Given the description of an element on the screen output the (x, y) to click on. 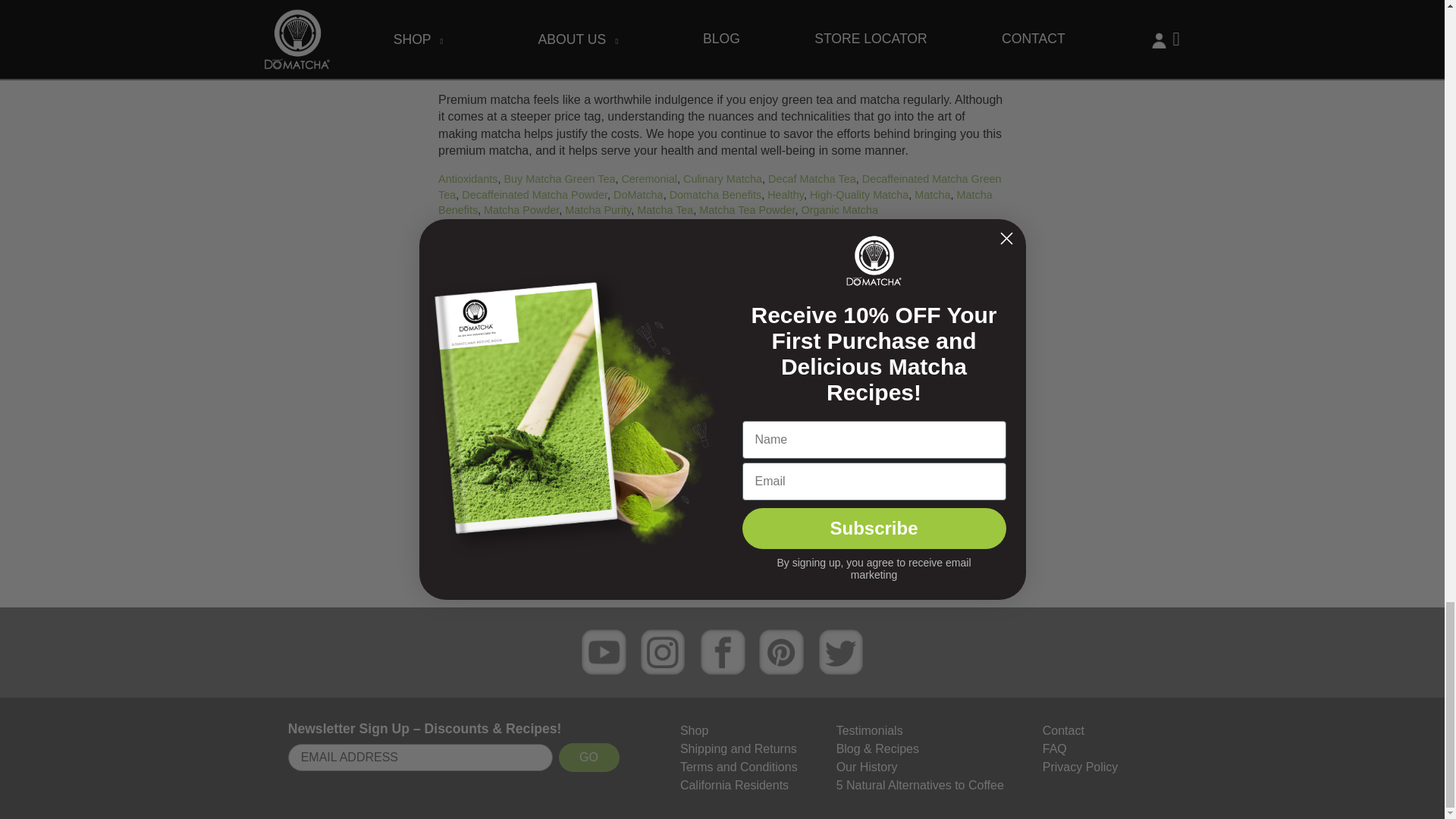
Decaffeinated Matcha Green Tea (719, 185)
Matcha Benefits (715, 202)
DoMatcha (637, 194)
Antioxidants (467, 178)
High-Quality Matcha (858, 194)
Matcha (932, 194)
Decaffeinated Matcha Powder (534, 194)
Culinary Matcha (721, 178)
Buy Matcha Green Tea (558, 178)
Matcha Powder (521, 209)
Ceremonial (649, 178)
Healthy (785, 194)
Post comment (722, 559)
Domatcha Benefits (715, 194)
Decaf Matcha Tea (812, 178)
